Given the description of an element on the screen output the (x, y) to click on. 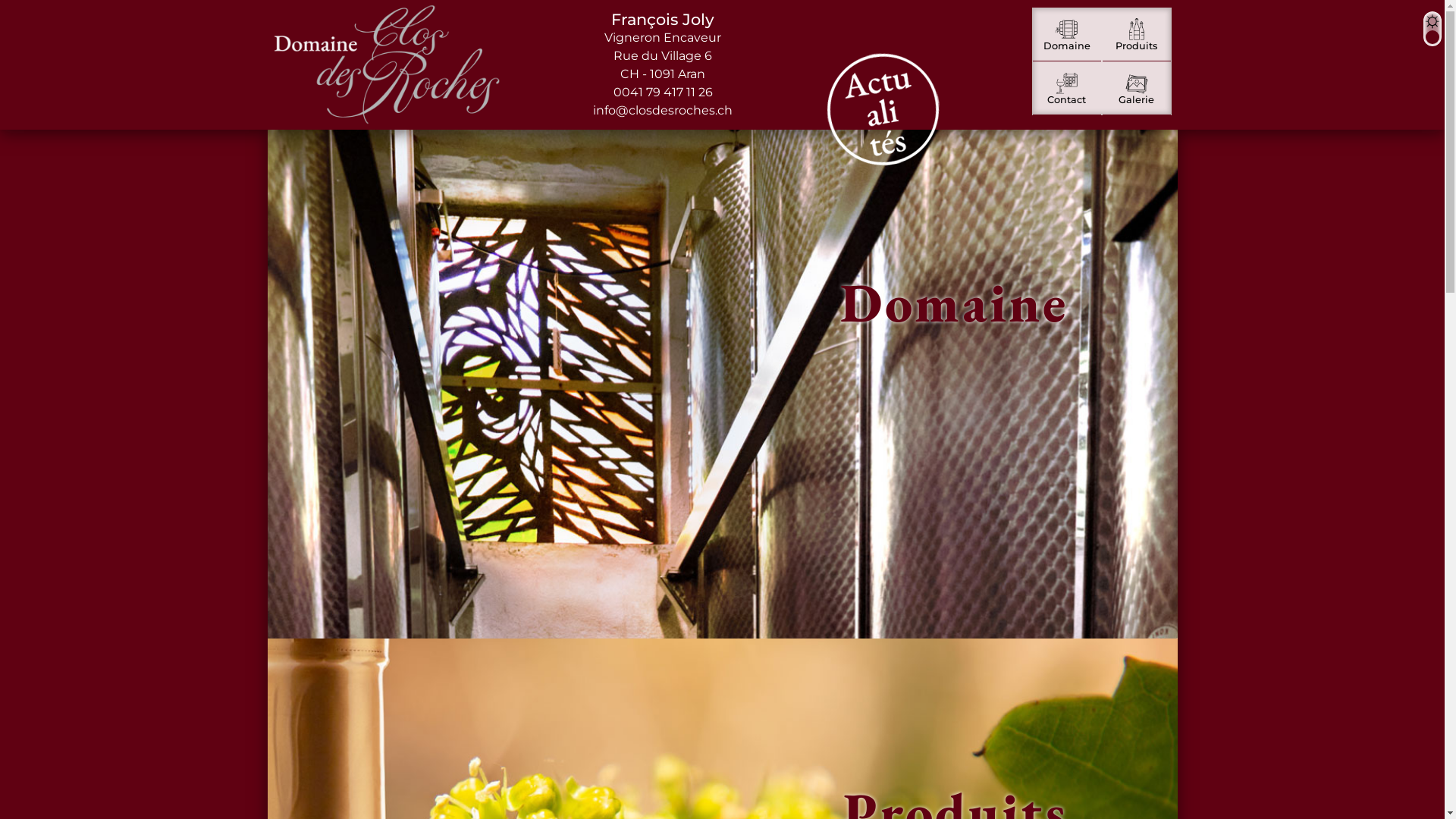
Domaine Element type: text (721, 383)
Domaine Element type: text (1066, 33)
Produits Element type: text (1136, 33)
info@closdesroches.ch Element type: text (662, 110)
Contact Element type: text (1066, 87)
Galerie Element type: text (1136, 87)
